Given the description of an element on the screen output the (x, y) to click on. 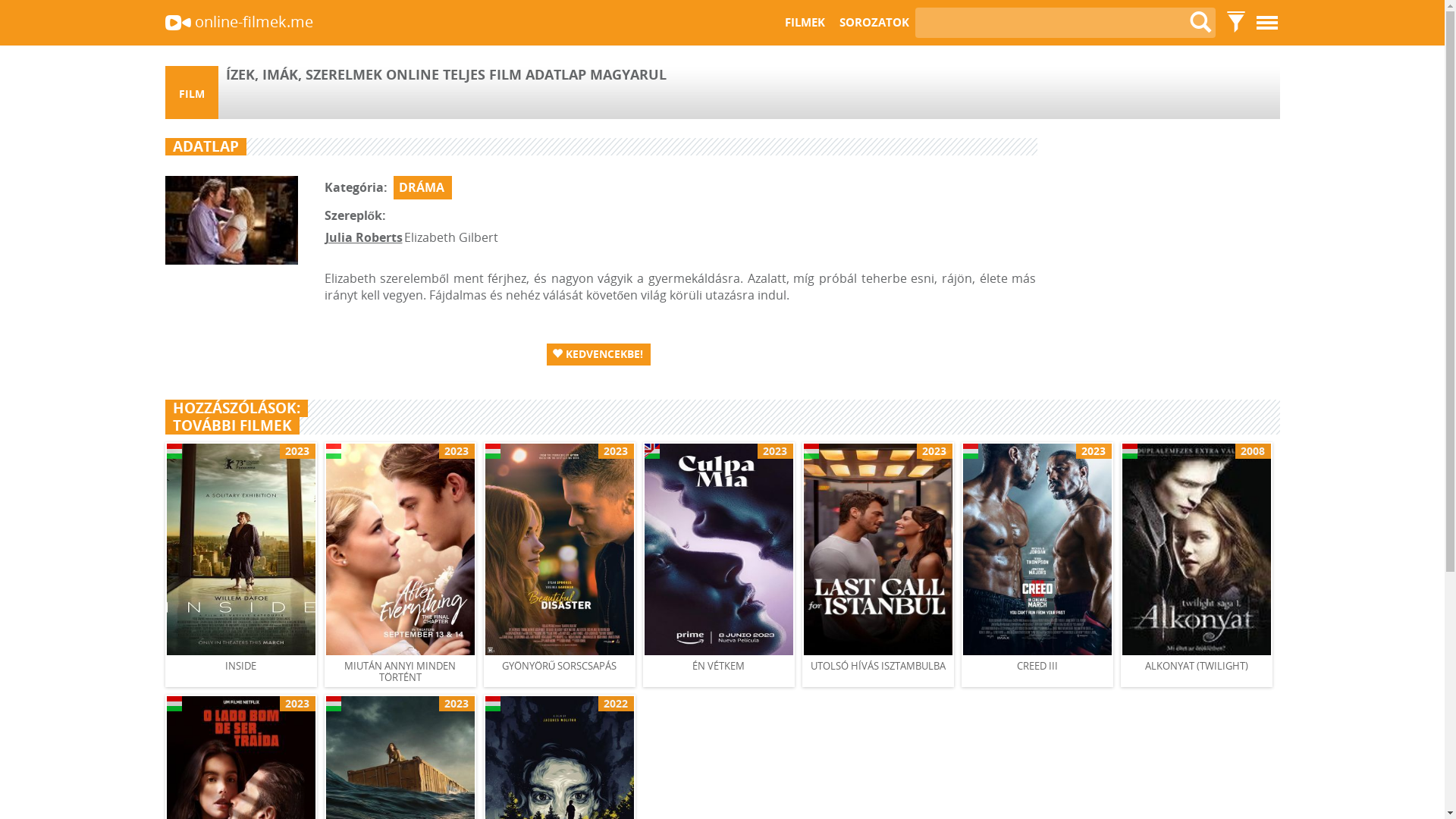
KEDVENCEKBE! Element type: text (597, 354)
2023
CREED III Element type: text (1037, 564)
Julia Roberts Element type: text (362, 237)
online-filmek.me Element type: text (237, 26)
2008
ALKONYAT (TWILIGHT) Element type: text (1196, 564)
SOROZATOK Element type: text (872, 22)
FILMEK Element type: text (804, 22)
2023
INSIDE Element type: text (240, 564)
